Given the description of an element on the screen output the (x, y) to click on. 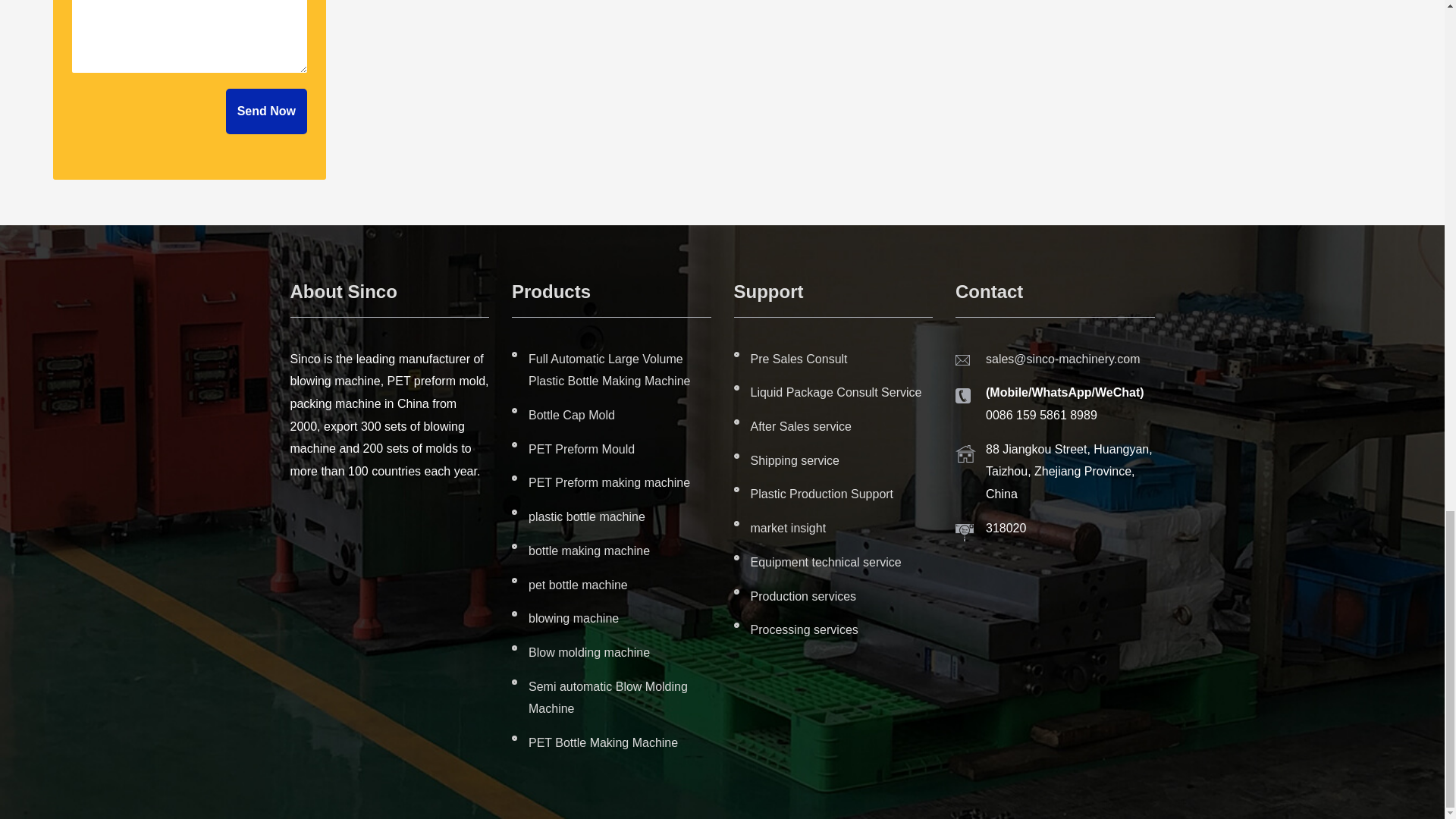
Send Now (266, 111)
